Given the description of an element on the screen output the (x, y) to click on. 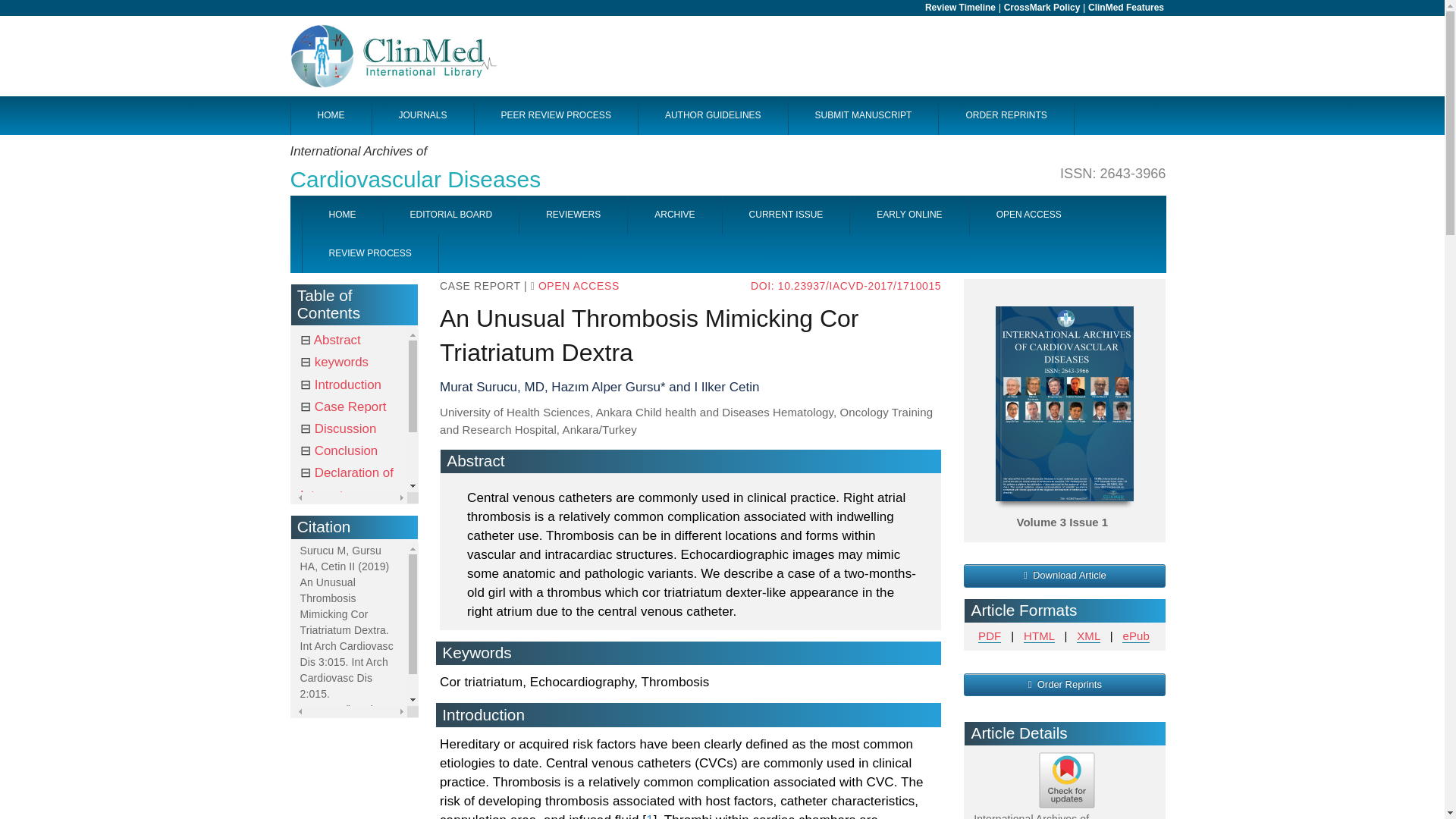
Click Download PDF (727, 166)
Conclusion (1064, 576)
REVIEWERS (338, 450)
PEER REVIEW PROCESS (572, 214)
Abstract (555, 115)
HOME (330, 339)
keywords (341, 214)
ClinMed Features (333, 361)
Review Timeline (1125, 7)
